Given the description of an element on the screen output the (x, y) to click on. 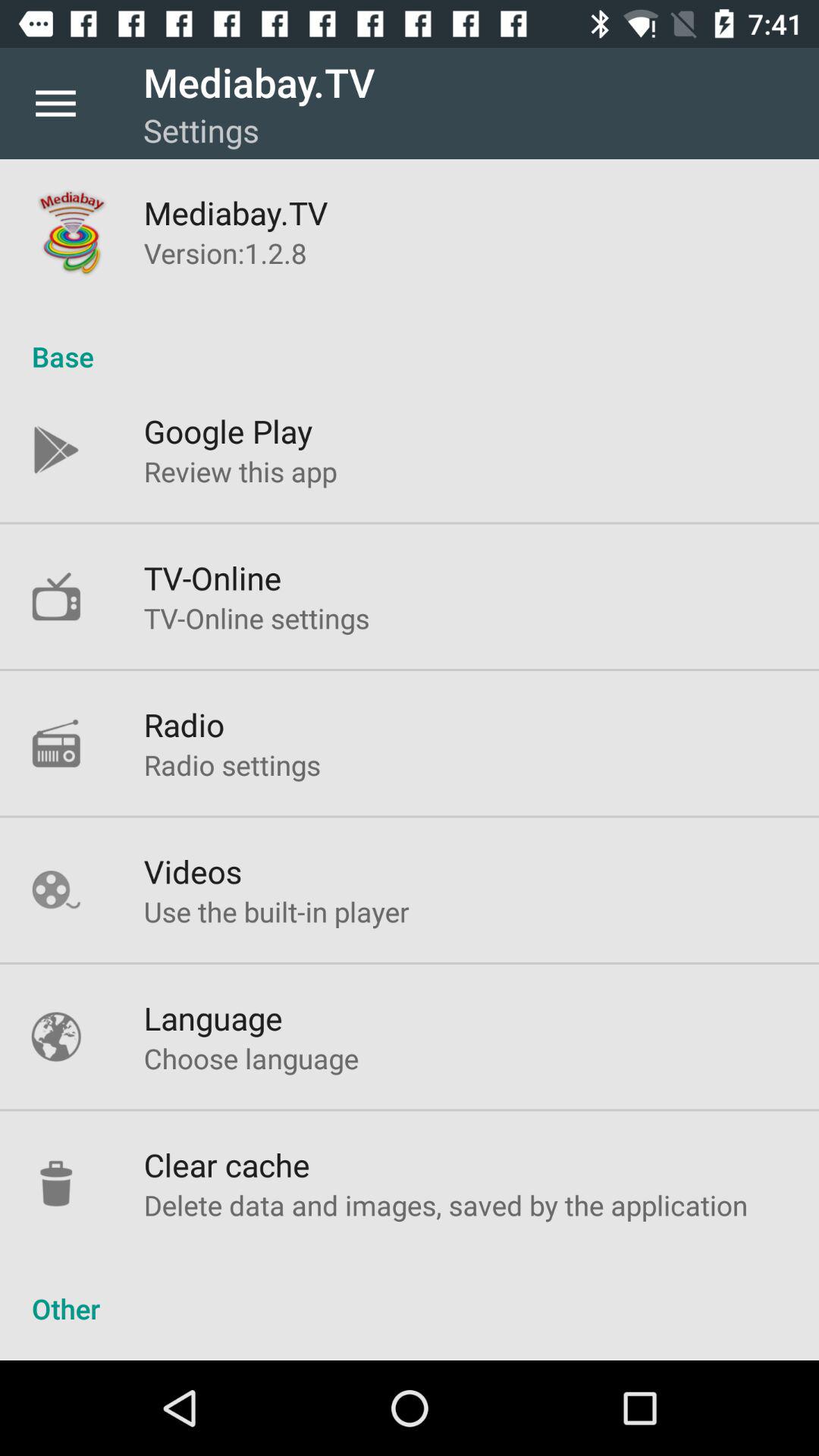
open the icon above videos icon (231, 764)
